Given the description of an element on the screen output the (x, y) to click on. 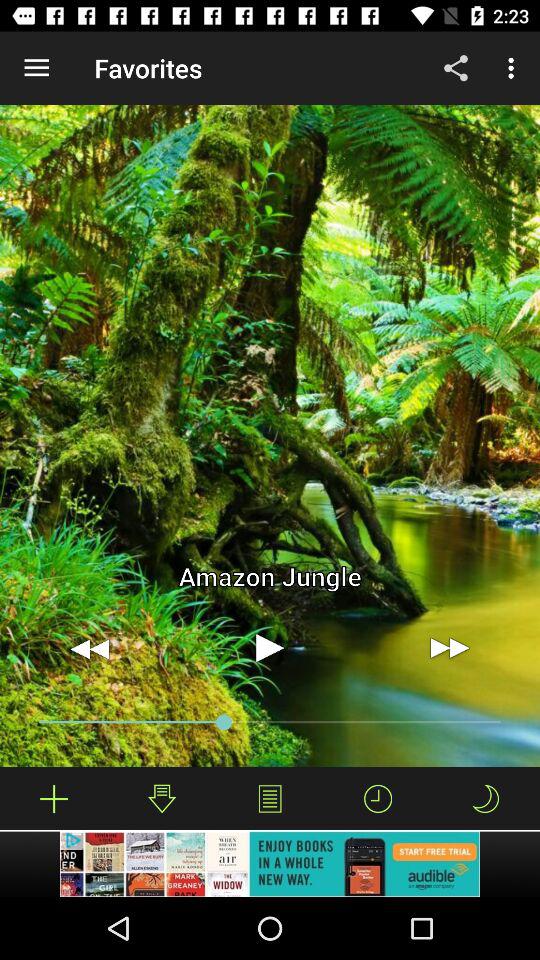
enable do n't disturb mode (485, 798)
